Given the description of an element on the screen output the (x, y) to click on. 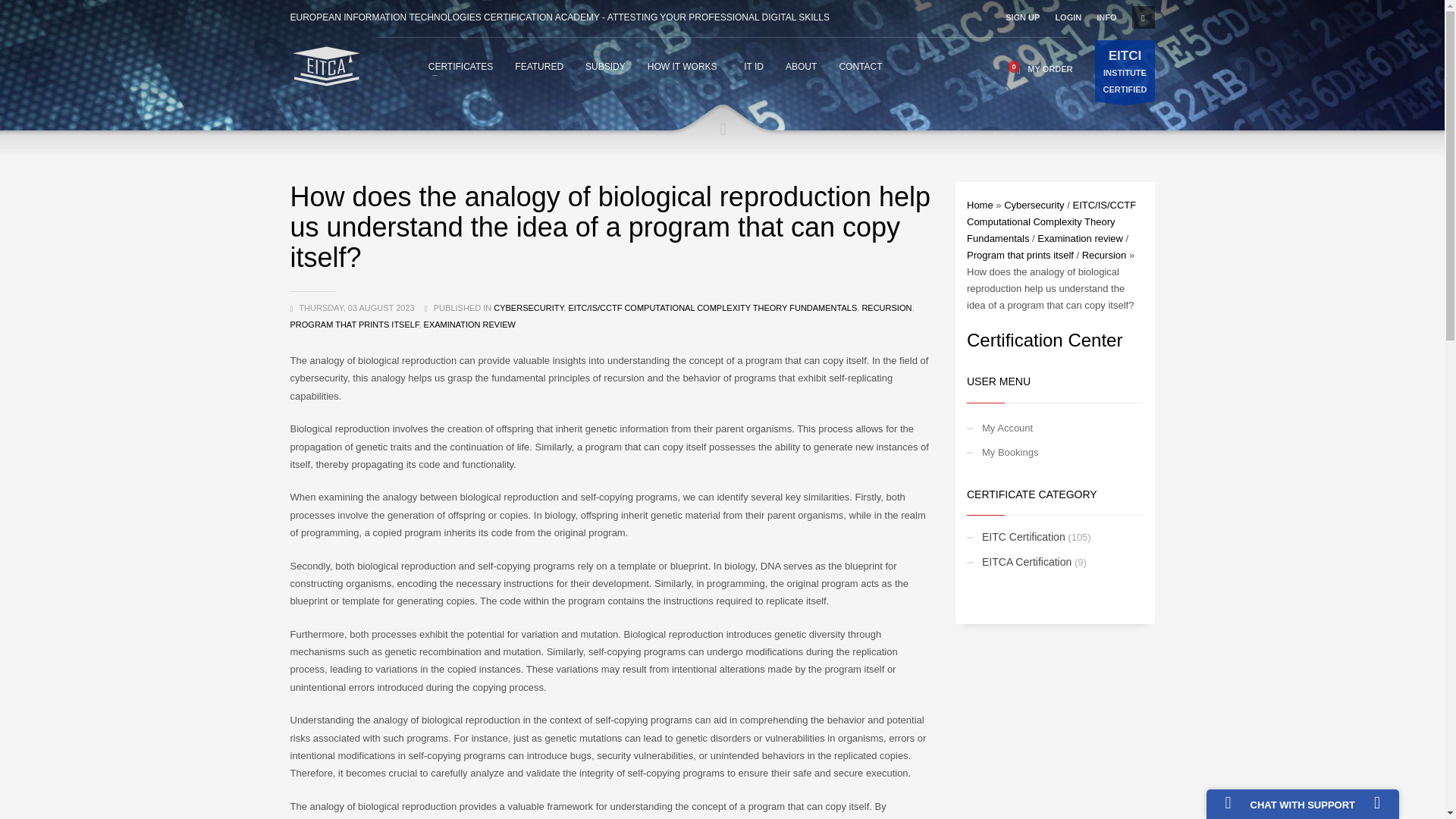
European Information Technologies Certification Academy (325, 66)
INFO (1106, 17)
CERTIFICATES (460, 66)
Examination review (1079, 238)
LOGIN (1067, 17)
Home (979, 204)
View your current order (1040, 68)
EITCI Institute (1124, 70)
SIGN UP (1022, 17)
Program that prints itself (1020, 255)
Recursion (1103, 255)
Cybersecurity (1034, 204)
